Given the description of an element on the screen output the (x, y) to click on. 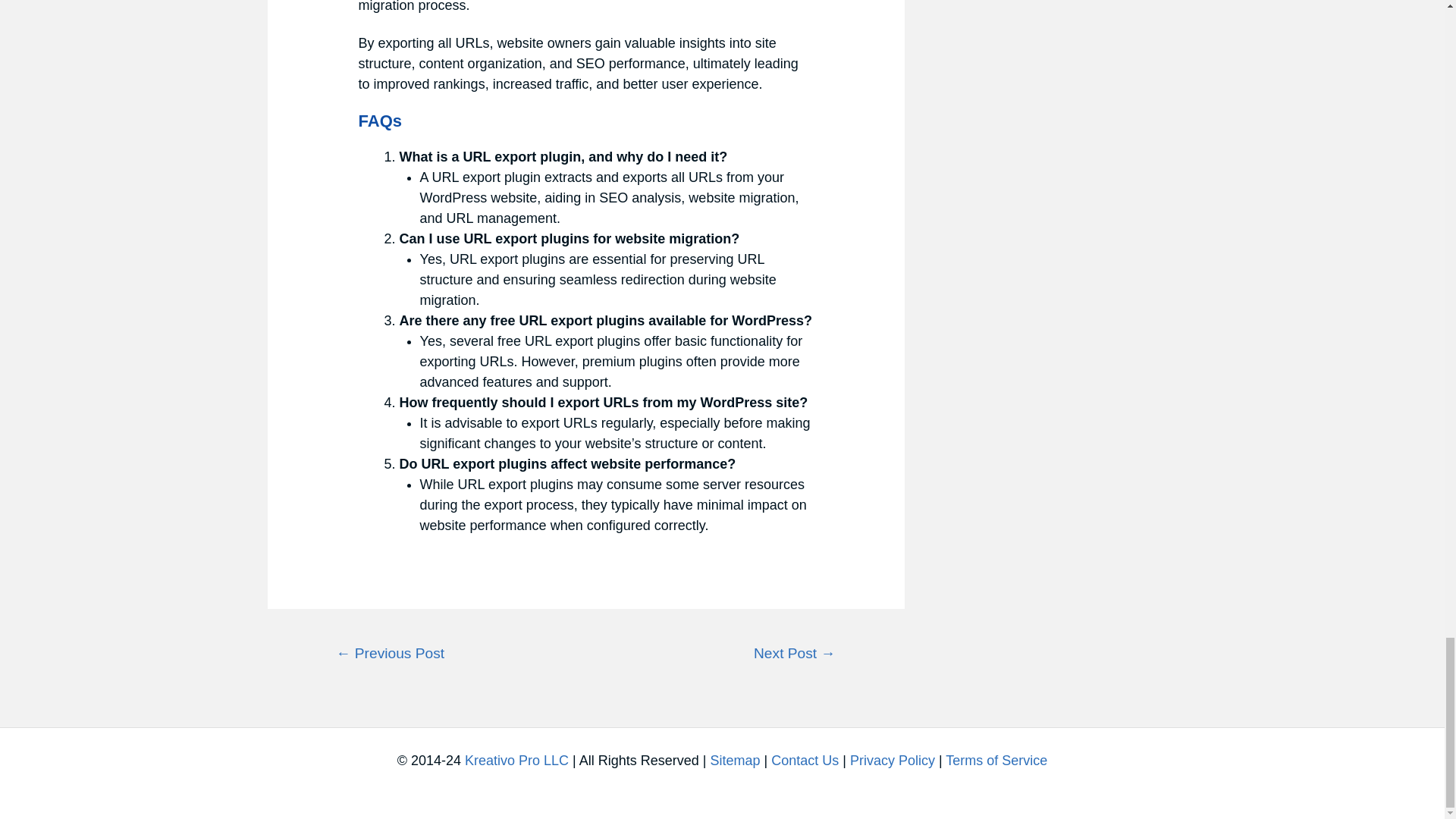
Kreativo Pro LLC (516, 760)
Contact Us (804, 760)
Privacy Policy (892, 760)
Terms of Service (995, 760)
Sitemap (735, 760)
